Given the description of an element on the screen output the (x, y) to click on. 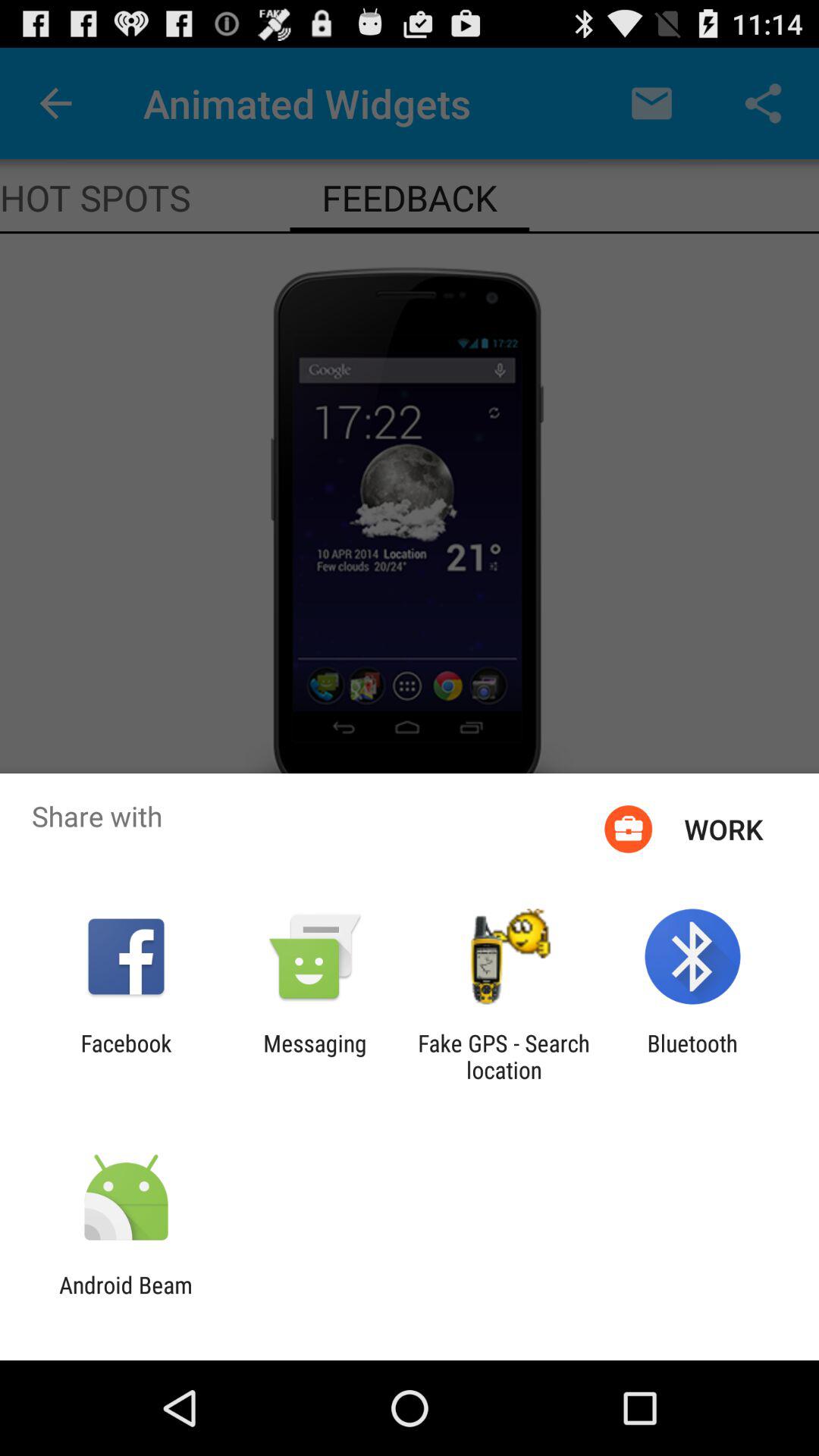
choose app next to the bluetooth app (503, 1056)
